Given the description of an element on the screen output the (x, y) to click on. 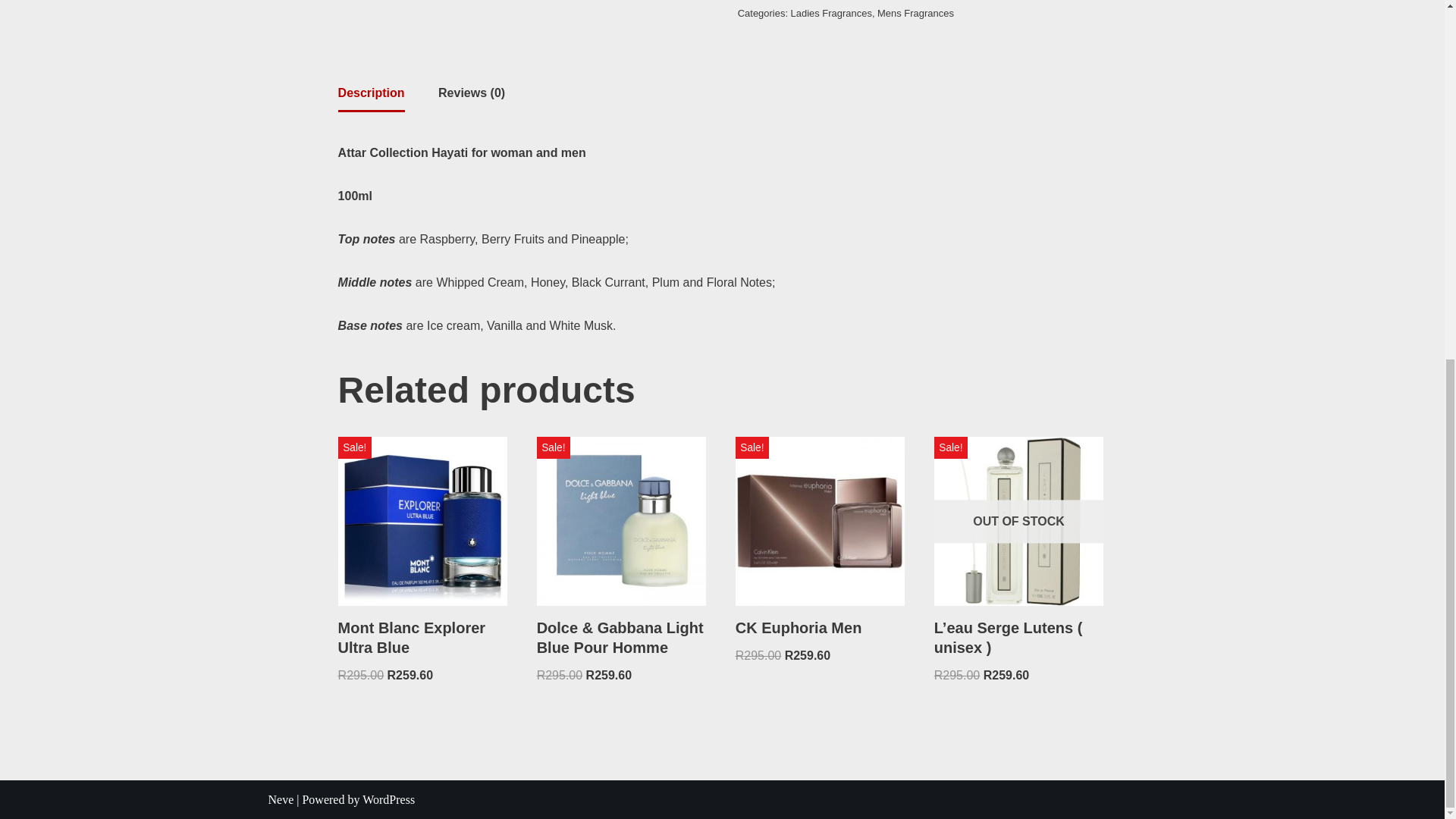
Mens Fragrances (915, 12)
Ladies Fragrances (831, 12)
Description (370, 92)
